Given the description of an element on the screen output the (x, y) to click on. 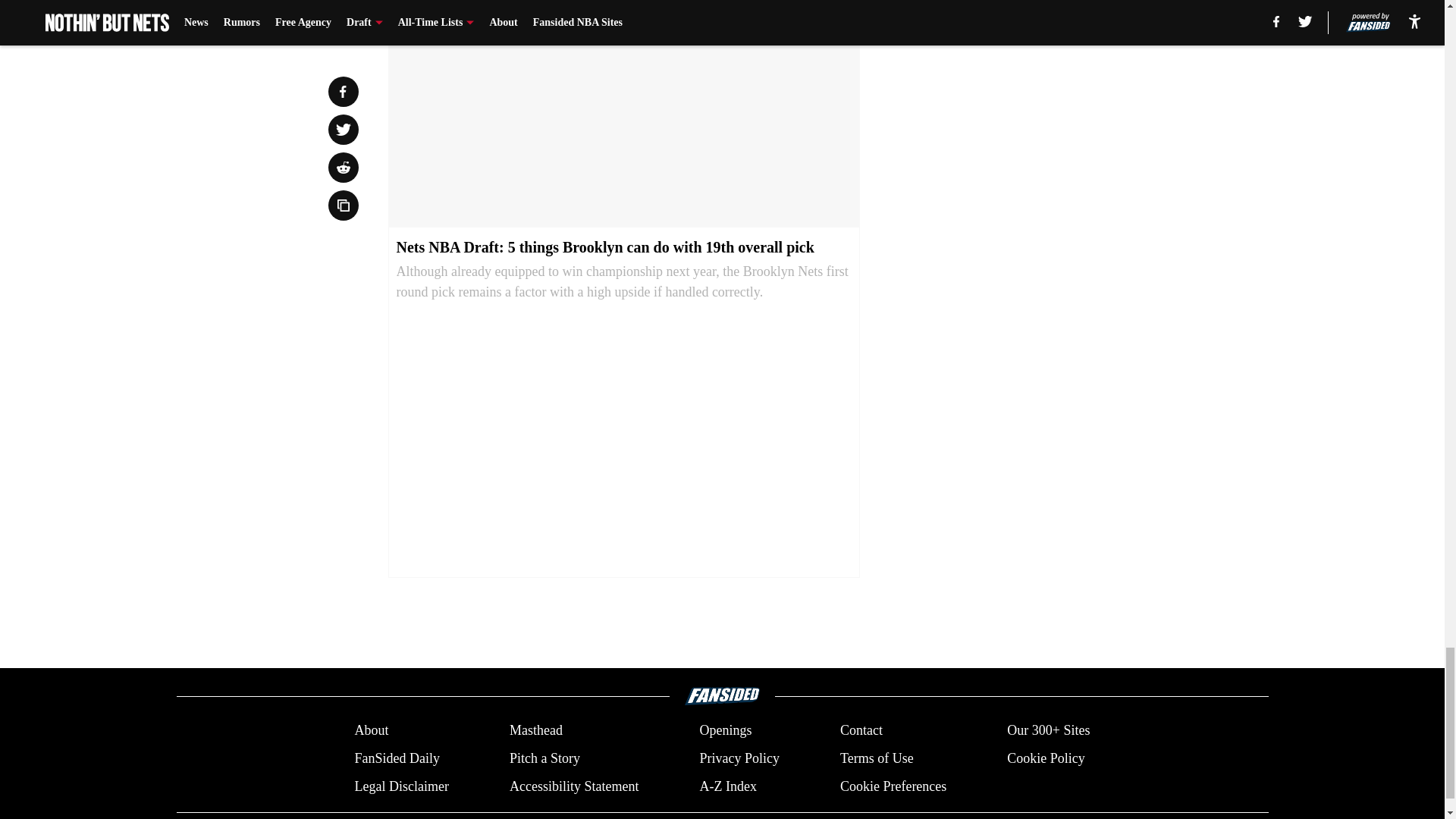
About (370, 730)
Masthead (535, 730)
Openings (724, 730)
Contact (861, 730)
